Given the description of an element on the screen output the (x, y) to click on. 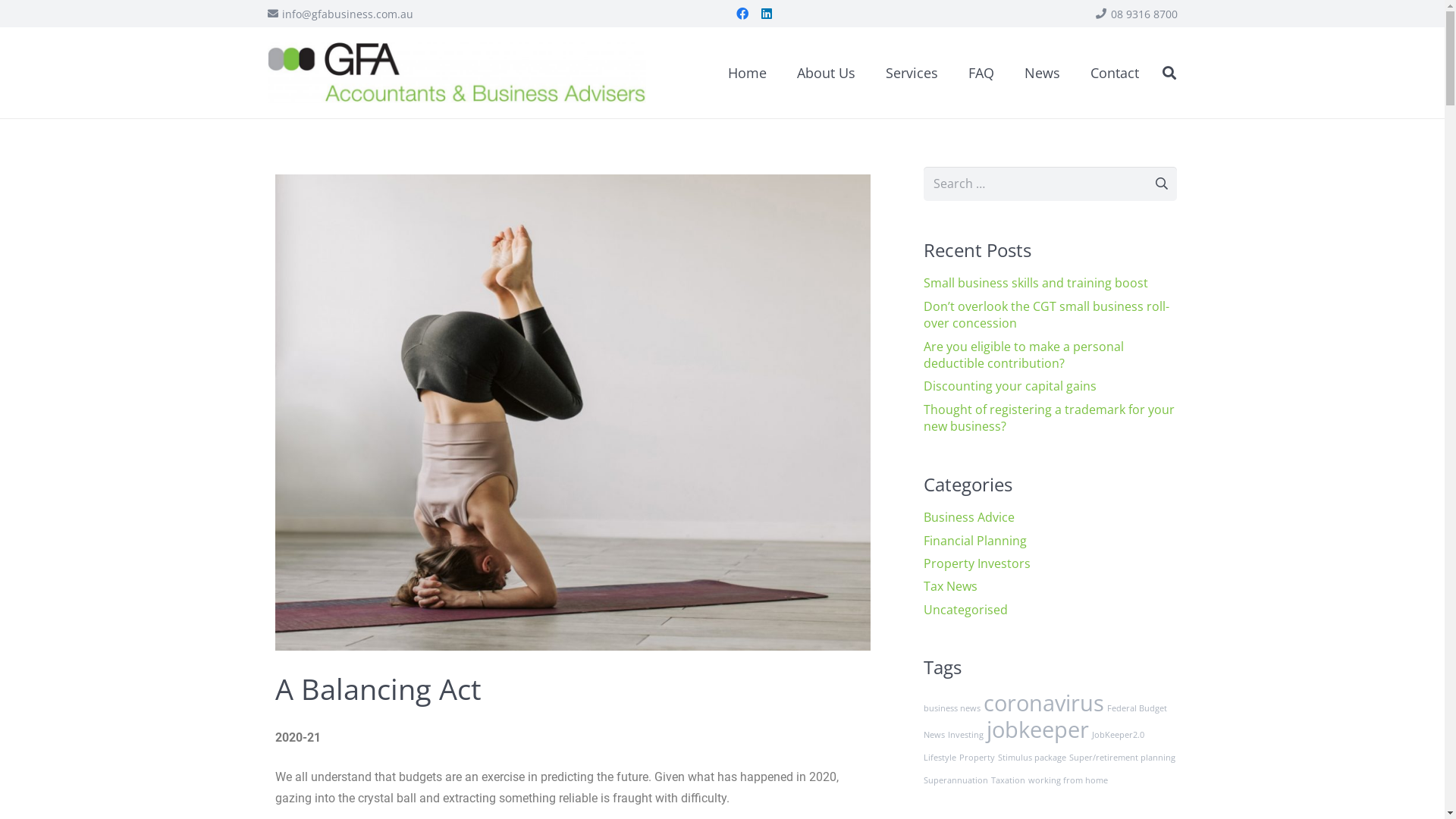
LinkedIn Element type: hover (766, 13)
coronavirus Element type: text (1043, 702)
Uncategorised Element type: text (965, 609)
info@gfabusiness.com.au Element type: text (339, 13)
Tax News Element type: text (950, 585)
Property Investors Element type: text (976, 563)
Superannuation Element type: text (955, 780)
JobKeeper2.0 Element type: text (1118, 734)
Lifestyle Element type: text (939, 757)
Facebook Element type: hover (742, 13)
Home Element type: text (746, 72)
Contact Element type: text (1114, 72)
Stimulus package Element type: text (1031, 757)
Federal Budget News Element type: text (1045, 721)
Financial Planning Element type: text (974, 540)
About Us Element type: text (825, 72)
Small business skills and training boost Element type: text (1035, 282)
Services Element type: text (911, 72)
jobkeeper Element type: text (1037, 729)
Property Element type: text (976, 757)
Search Element type: text (1153, 183)
News Element type: text (1042, 72)
Discounting your capital gains Element type: text (1009, 385)
FAQ Element type: text (981, 72)
business news Element type: text (951, 707)
Investing Element type: text (965, 734)
Super/retirement planning Element type: text (1122, 757)
Taxation Element type: text (1008, 780)
Business Advice Element type: text (968, 516)
working from home Element type: text (1067, 780)
08 9316 8700 Element type: text (1136, 13)
Thought of registering a trademark for your new business? Element type: text (1048, 417)
Are you eligible to make a personal deductible contribution? Element type: text (1023, 354)
